Given the description of an element on the screen output the (x, y) to click on. 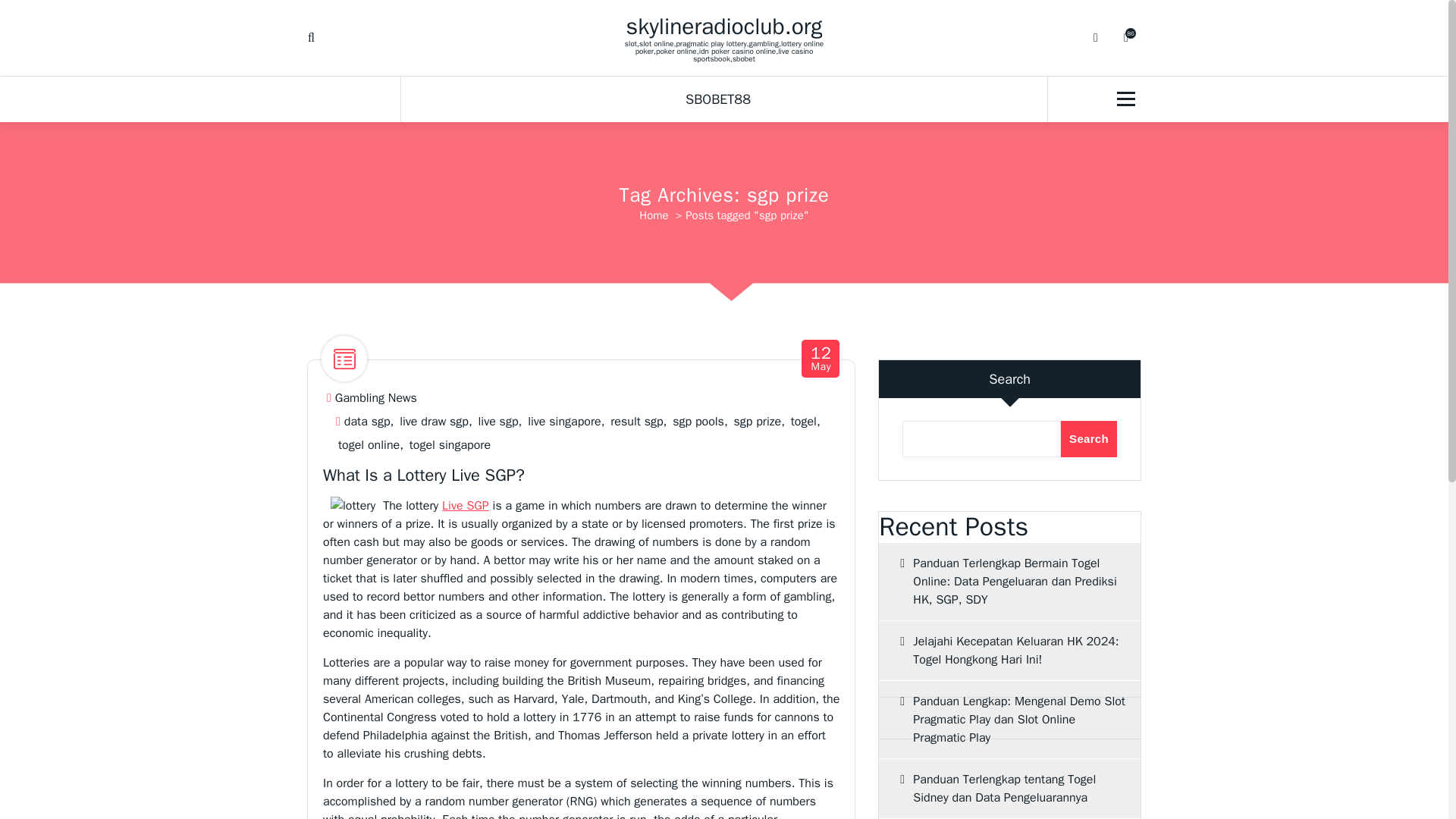
SBOBET88 (723, 99)
togel (803, 421)
Search (1088, 438)
What Is a Lottery Live SGP? (423, 475)
SBOBET88 (723, 99)
live singapore (563, 421)
togel online (367, 445)
Gambling News (375, 398)
864 (1125, 37)
data sgp (366, 421)
live sgp (497, 421)
